Given the description of an element on the screen output the (x, y) to click on. 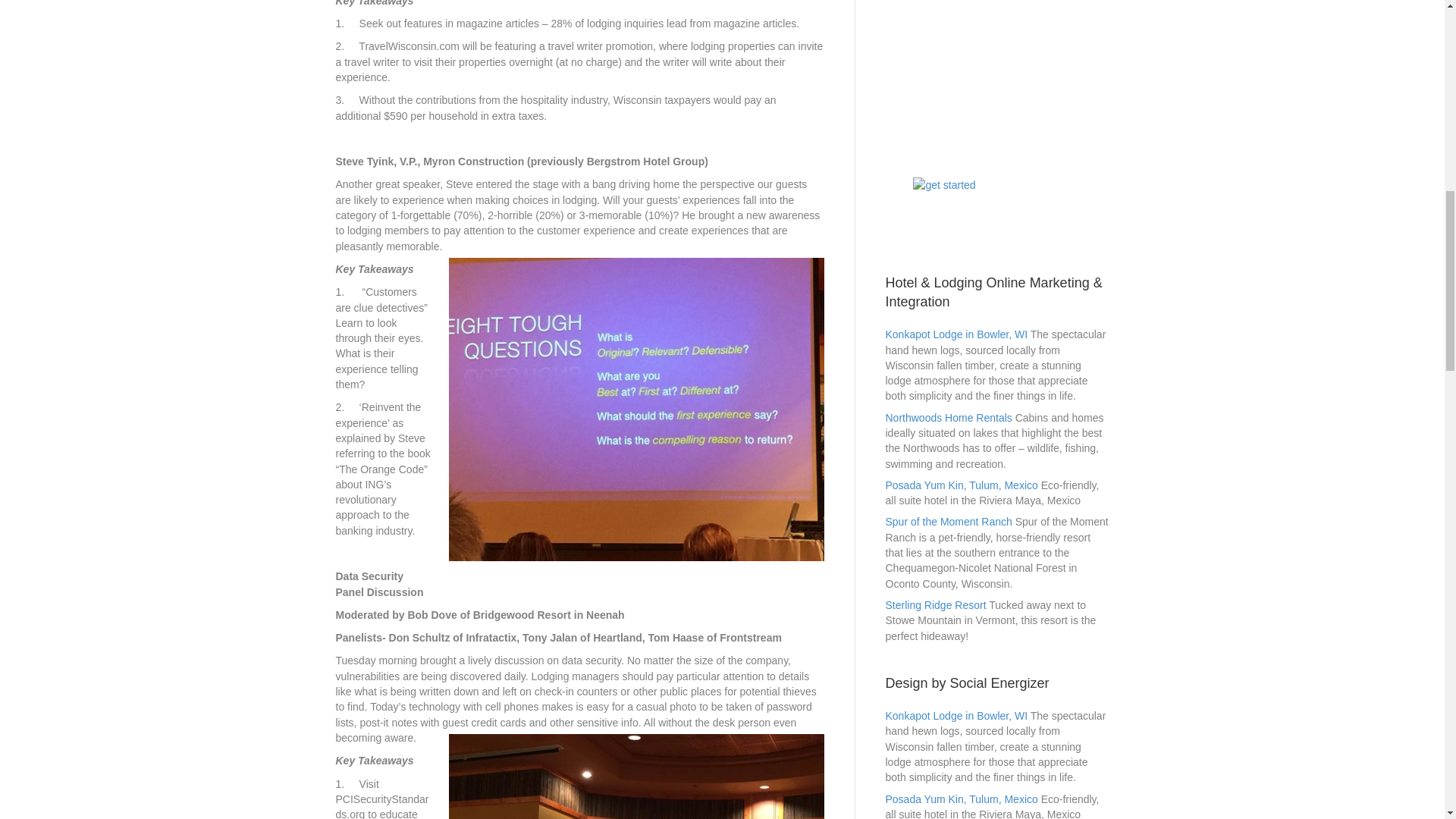
Posada Yum Kin, Tulum, Mexico (961, 485)
Konkapot Lodge in Bowler, WI (956, 334)
Eco-friendly, all suite hotel in the Riviera Maya, Mexico (961, 485)
Northwoods Home Rentals (948, 417)
Get Started (997, 209)
Posada Yum Kin, Tulum, Mexico (961, 799)
Spur of the Moment Ranch (948, 521)
Sterling Ridge Resort (936, 604)
Konkapot Lodge in Bowler, WI (956, 715)
